Given the description of an element on the screen output the (x, y) to click on. 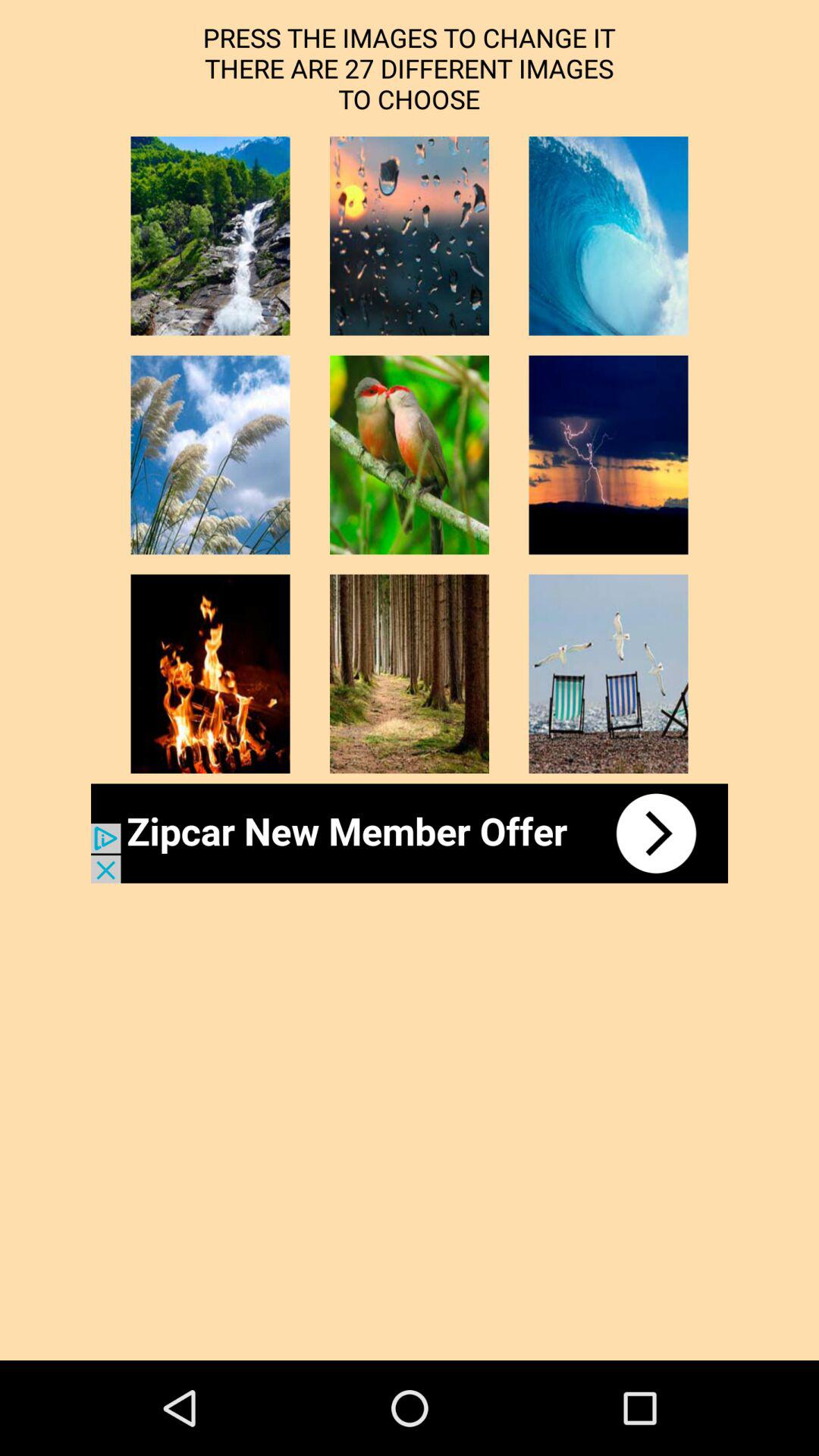
choose image (608, 673)
